Given the description of an element on the screen output the (x, y) to click on. 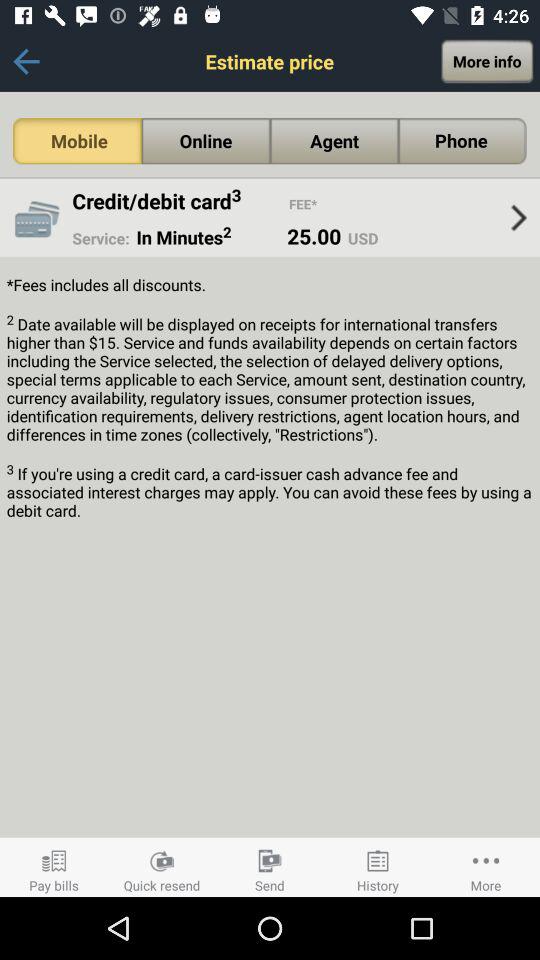
press the icon above fees includes all icon (518, 218)
